Given the description of an element on the screen output the (x, y) to click on. 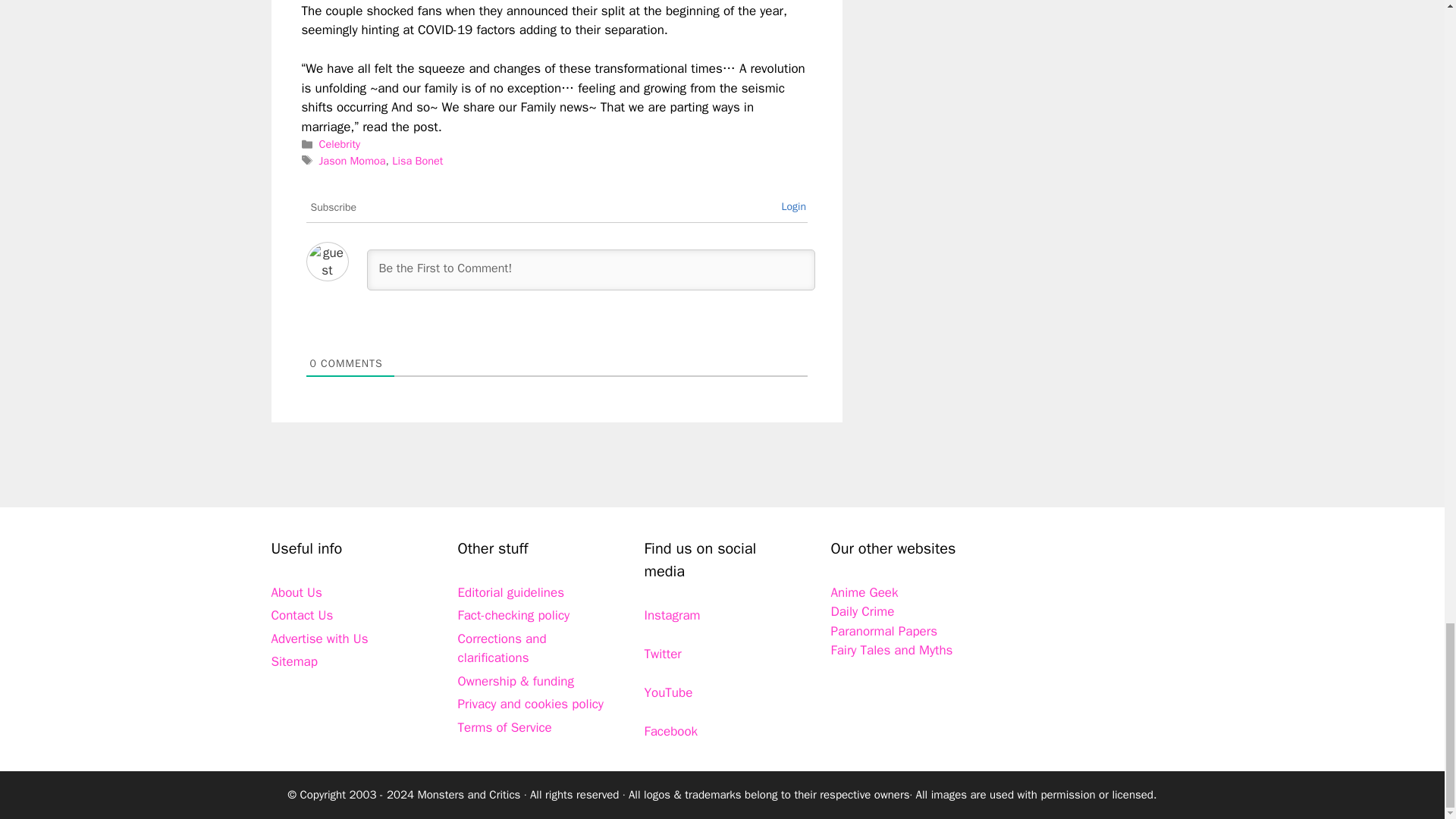
Jason Momoa (351, 160)
Instagram (672, 615)
Terms of Service (504, 727)
Celebrity (338, 143)
Login (793, 205)
Contact Us (301, 615)
Privacy and cookies policy (531, 703)
Corrections and clarifications (502, 648)
Editorial guidelines (511, 592)
Fact-checking policy (514, 615)
